Given the description of an element on the screen output the (x, y) to click on. 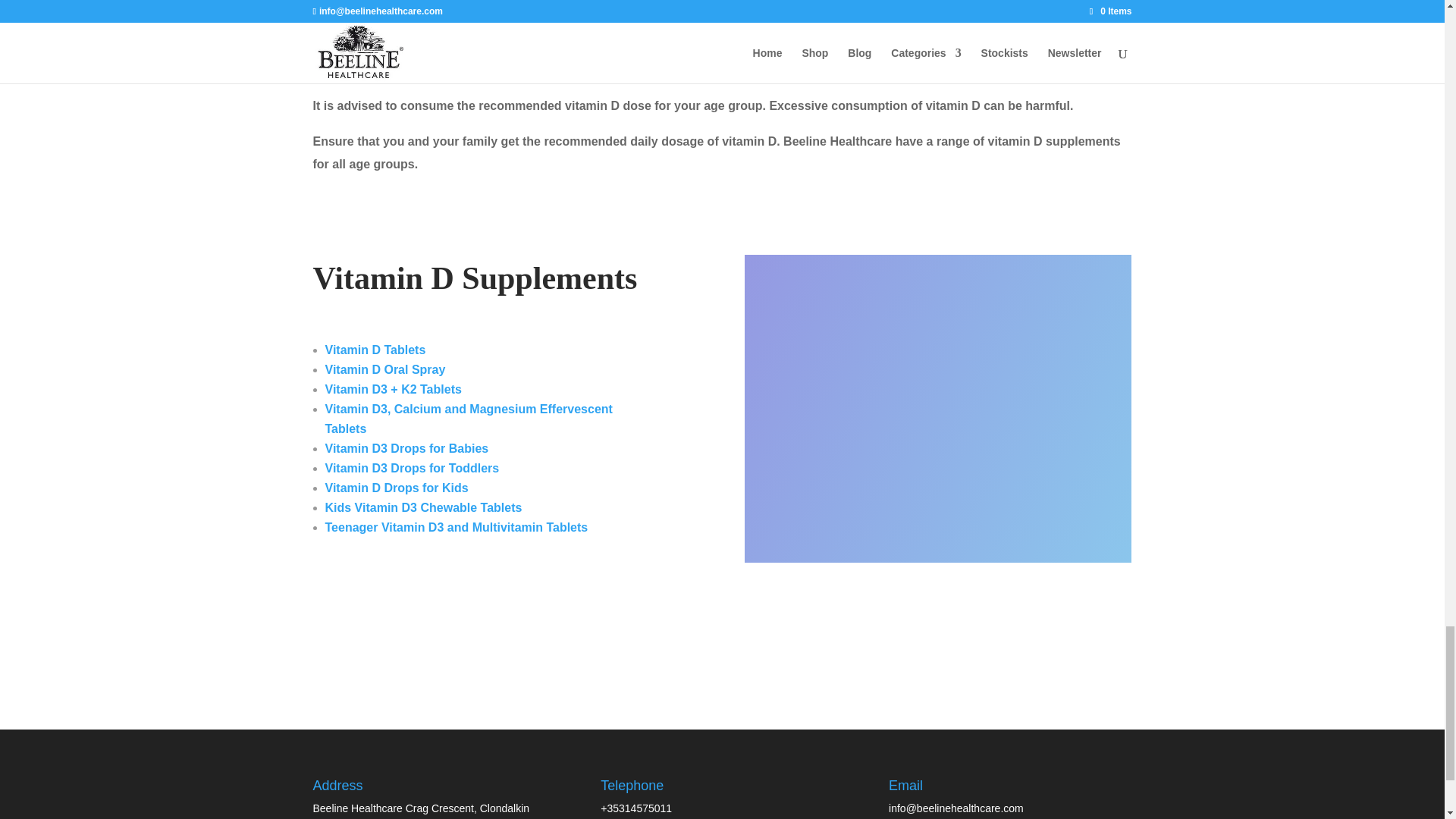
Vitamin D Oral Spray (384, 369)
Vitamin D Tablets (374, 349)
Vitamin D3, Calcium and Magnesium Effervescent Tablets (467, 418)
